Given the description of an element on the screen output the (x, y) to click on. 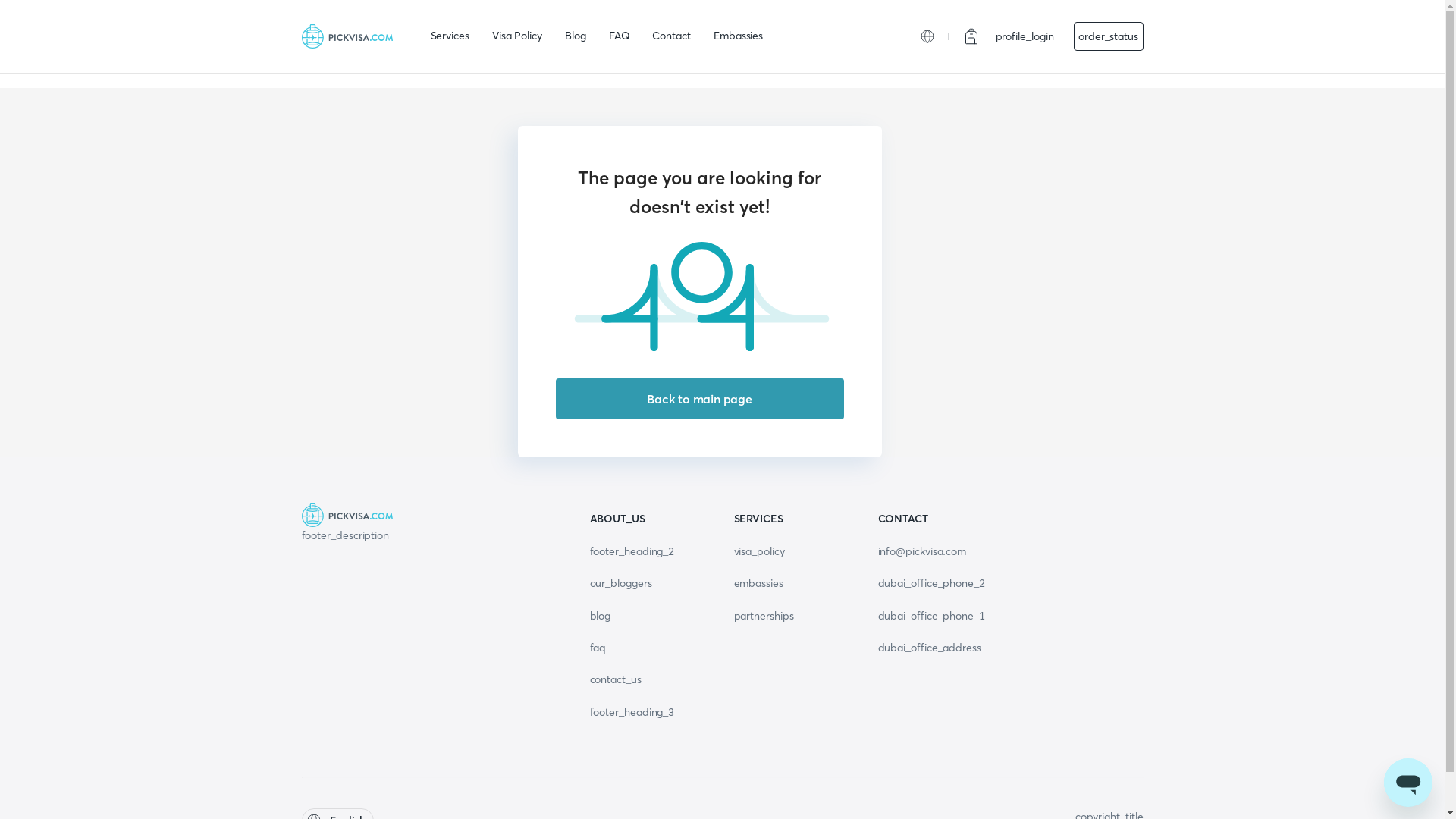
Home page - pickvisa.com Element type: hover (434, 514)
footer_heading_2 Element type: text (631, 551)
blog Element type: text (600, 614)
faq Element type: text (597, 647)
dubai_office_phone_2 Element type: text (931, 582)
Button to launch messaging window Element type: hover (1407, 782)
order_status Element type: text (1108, 35)
Back to main page Element type: text (699, 398)
Embassies Element type: text (737, 35)
embassies Element type: text (758, 582)
Services Element type: text (449, 35)
Visa Policy Element type: text (517, 35)
Home page - pickvisa.com Element type: hover (346, 36)
our_bloggers Element type: text (620, 582)
info@pickvisa.com Element type: text (922, 551)
dubai_office_address Element type: text (929, 647)
Contact Element type: text (671, 35)
dubai_office_phone_1 Element type: text (931, 614)
profile_login Element type: text (1024, 36)
FAQ Element type: text (619, 35)
partnerships Element type: text (763, 614)
Blog Element type: text (575, 35)
contact_us Element type: text (615, 679)
footer_heading_3 Element type: text (631, 711)
visa_policy Element type: text (759, 551)
